Given the description of an element on the screen output the (x, y) to click on. 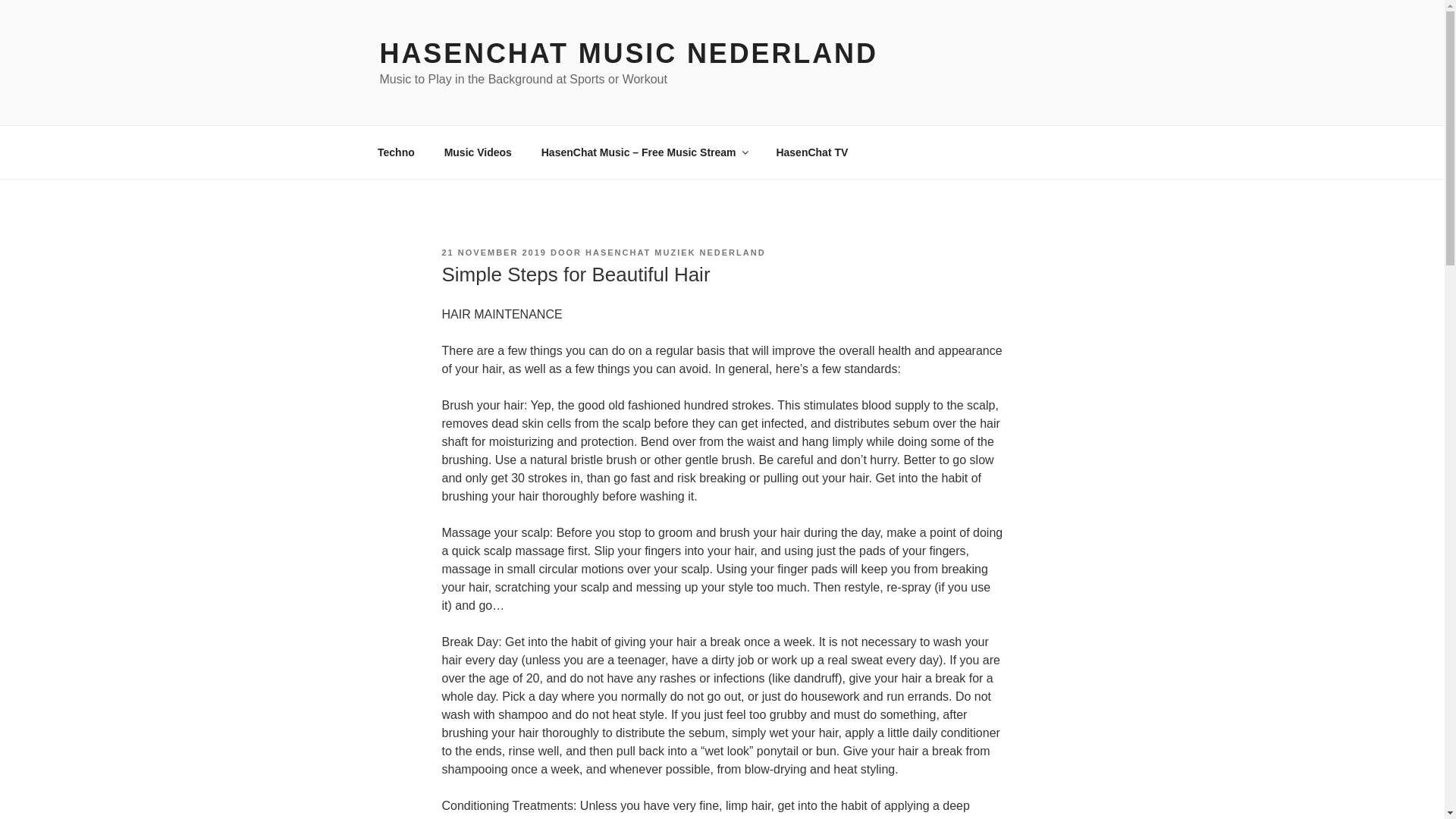
HASENCHAT MUSIC NEDERLAND (627, 52)
21 NOVEMBER 2019 (493, 252)
Music Videos (477, 151)
Techno (396, 151)
HASENCHAT MUZIEK NEDERLAND (675, 252)
HasenChat TV (811, 151)
